Given the description of an element on the screen output the (x, y) to click on. 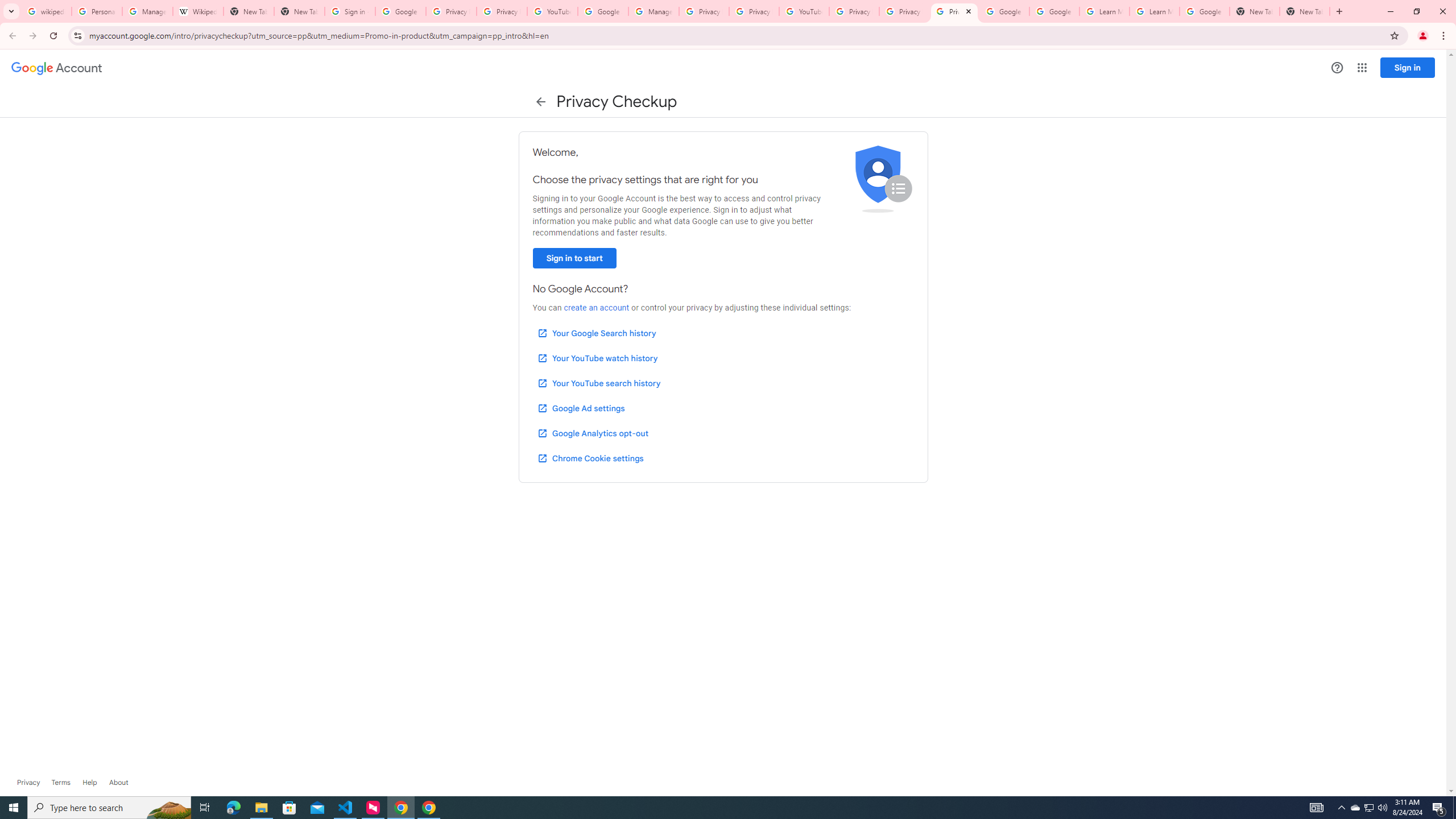
Wikipedia:Edit requests - Wikipedia (197, 11)
New Tab (299, 11)
Learn more about Google Account (118, 782)
Your YouTube watch history (597, 358)
Google Account Help (602, 11)
Your YouTube search history (598, 383)
Chrome Cookie settings (589, 457)
